Given the description of an element on the screen output the (x, y) to click on. 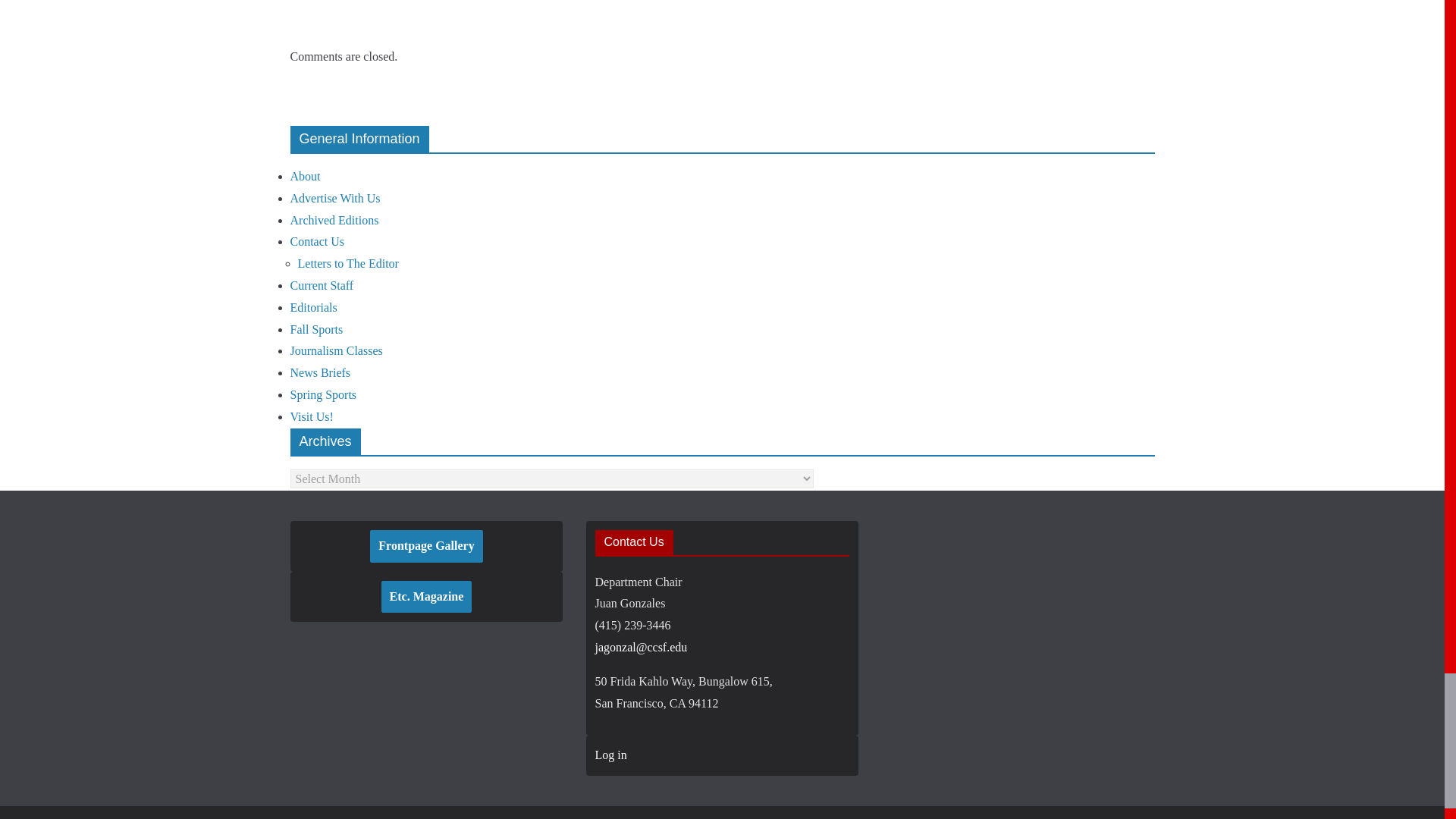
Archived Editions (333, 219)
Contact Us (316, 241)
Advertise With Us (334, 197)
About (304, 175)
